Given the description of an element on the screen output the (x, y) to click on. 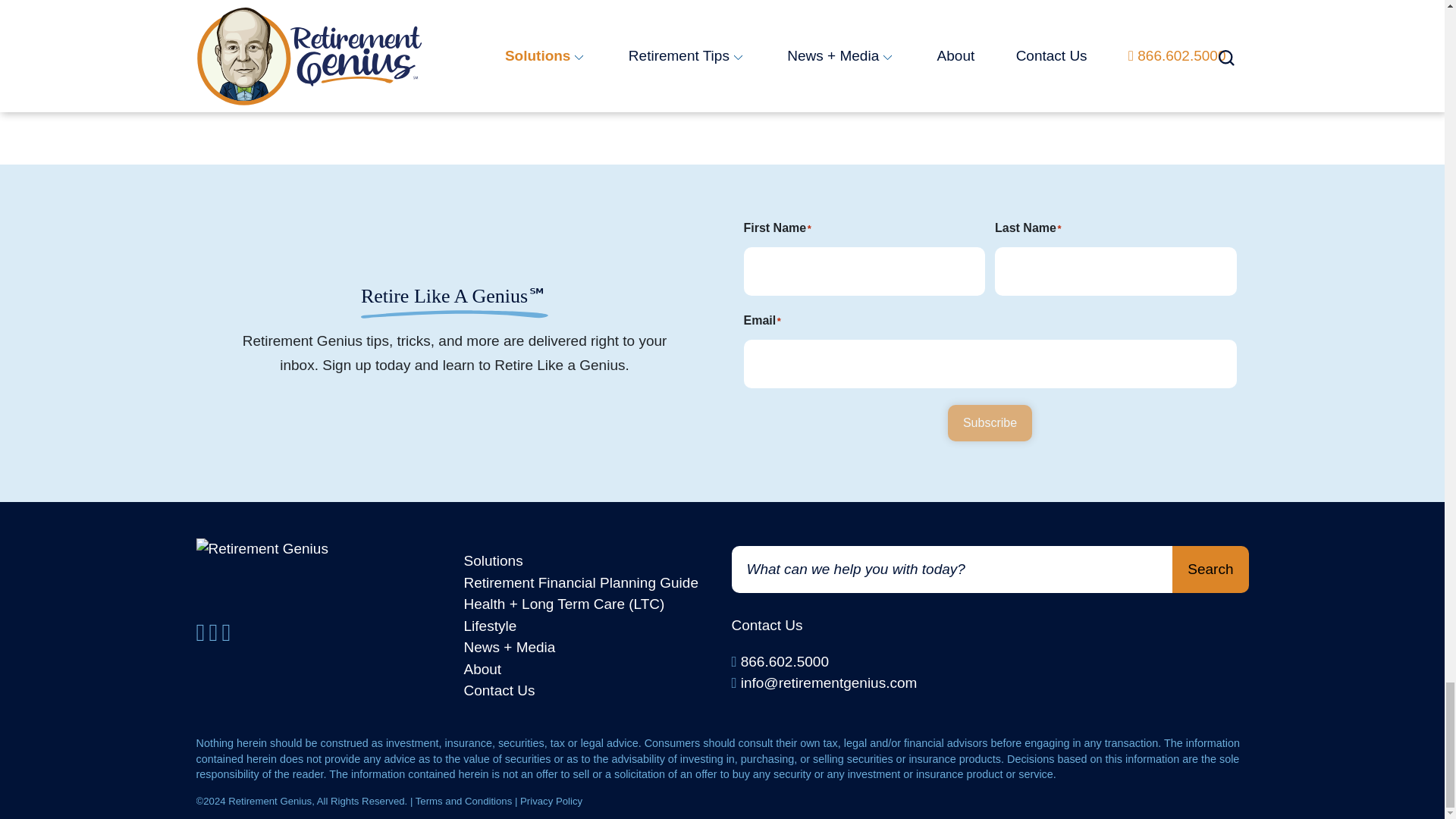
Search (1209, 569)
Subscribe (989, 422)
